Given the description of an element on the screen output the (x, y) to click on. 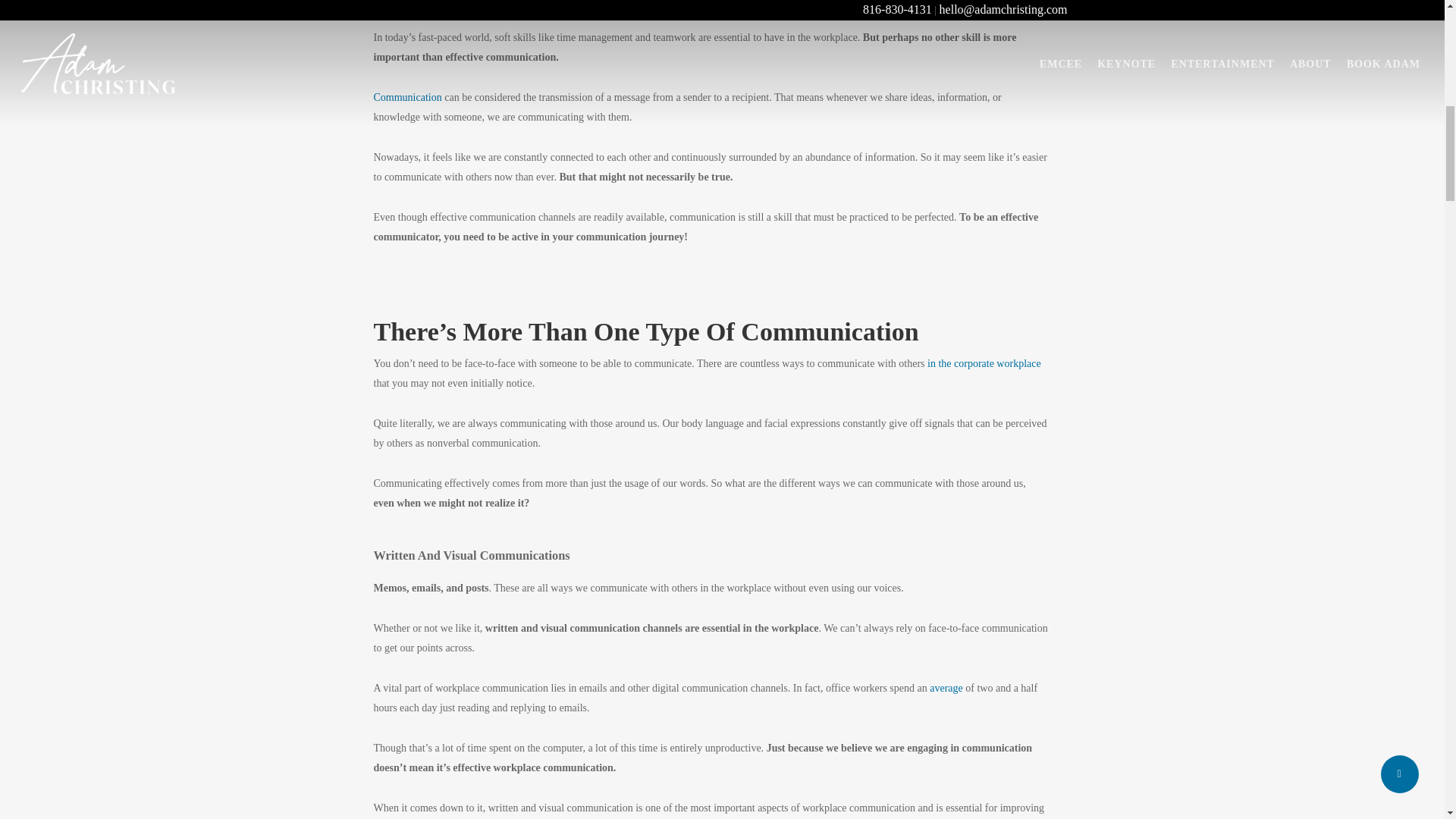
average (946, 687)
in the corporate workplace (984, 363)
Communication (406, 97)
